Given the description of an element on the screen output the (x, y) to click on. 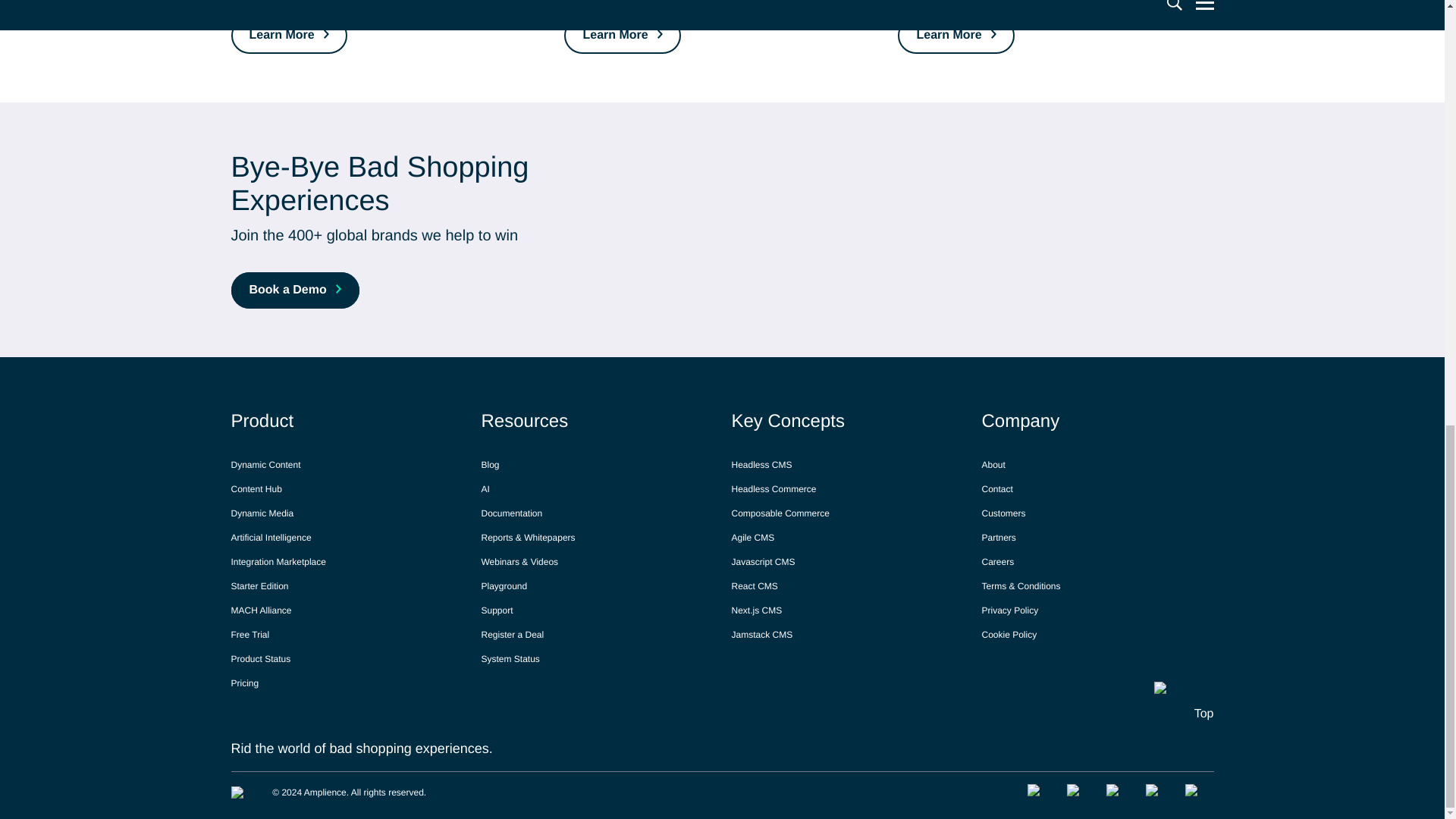
Content Hub (255, 488)
Pricing (244, 682)
Book a Demo (294, 289)
Contact (996, 488)
System Status (509, 658)
Learn More (288, 35)
Agile CMS (752, 537)
Javascript CMS (762, 561)
Headless CMS (761, 464)
Learn More (621, 35)
